Given the description of an element on the screen output the (x, y) to click on. 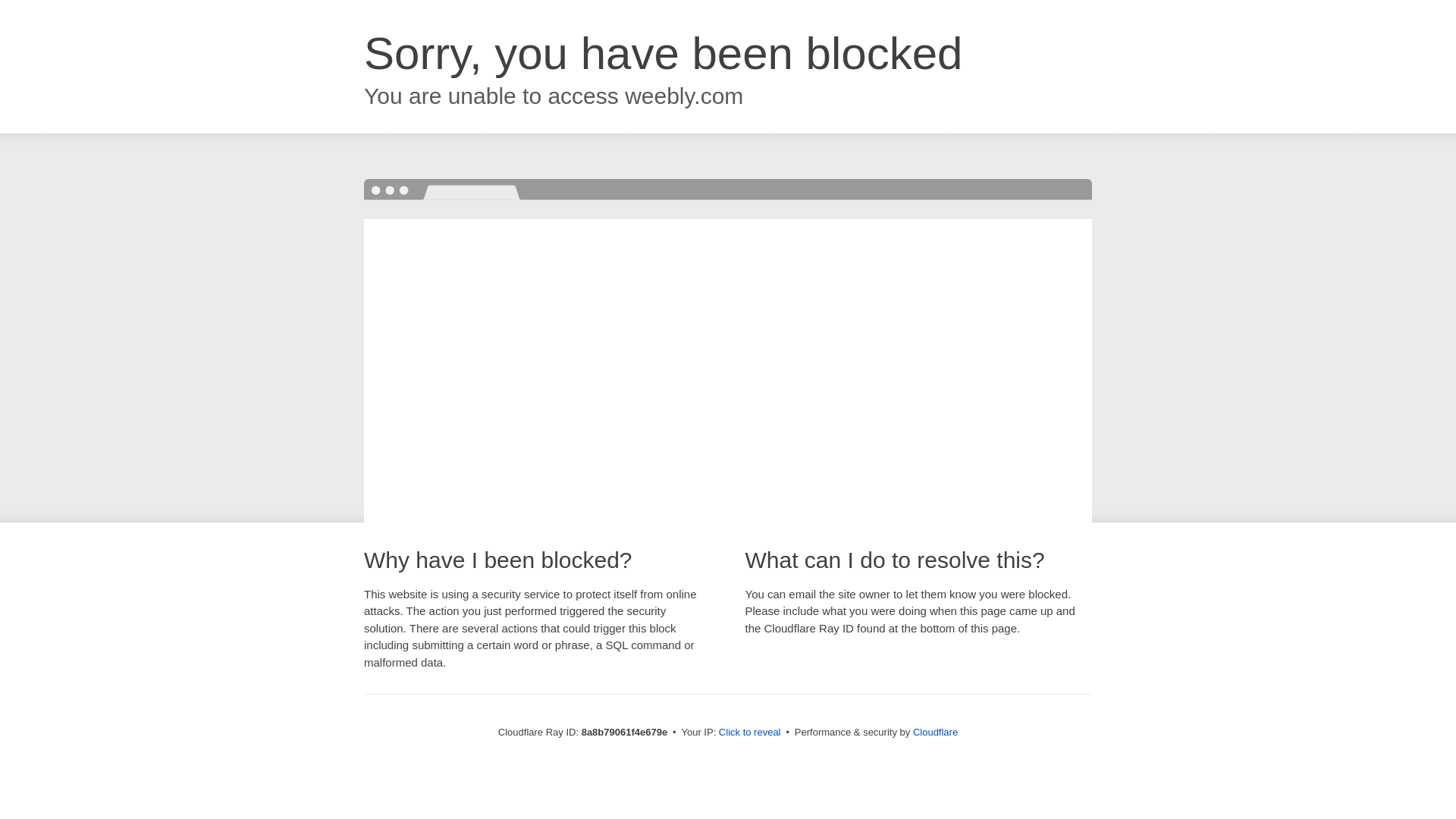
Cloudflare (935, 731)
Click to reveal (749, 732)
